Given the description of an element on the screen output the (x, y) to click on. 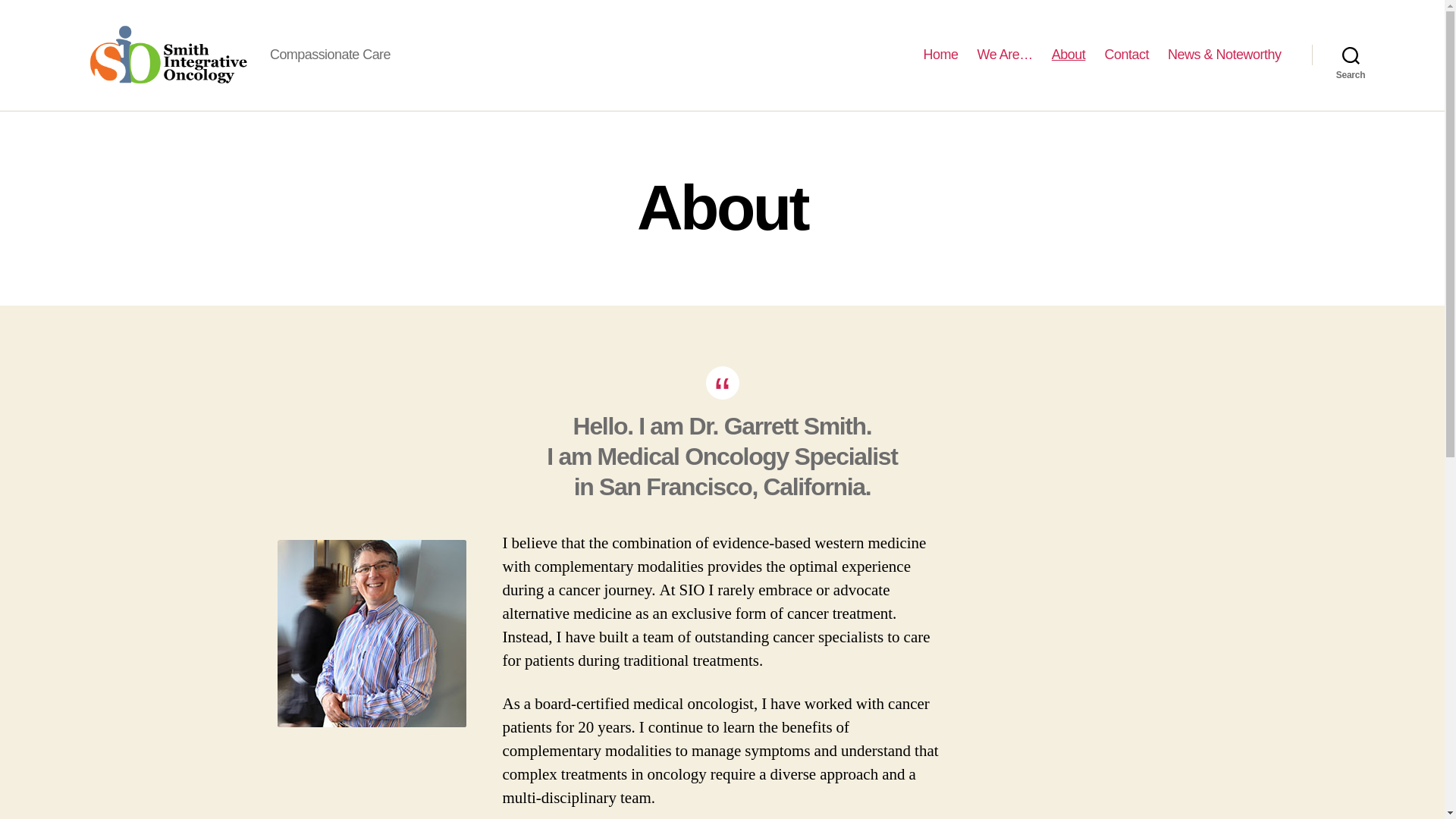
Search (1350, 55)
Home (940, 54)
About (1068, 54)
Contact (1125, 54)
